Given the description of an element on the screen output the (x, y) to click on. 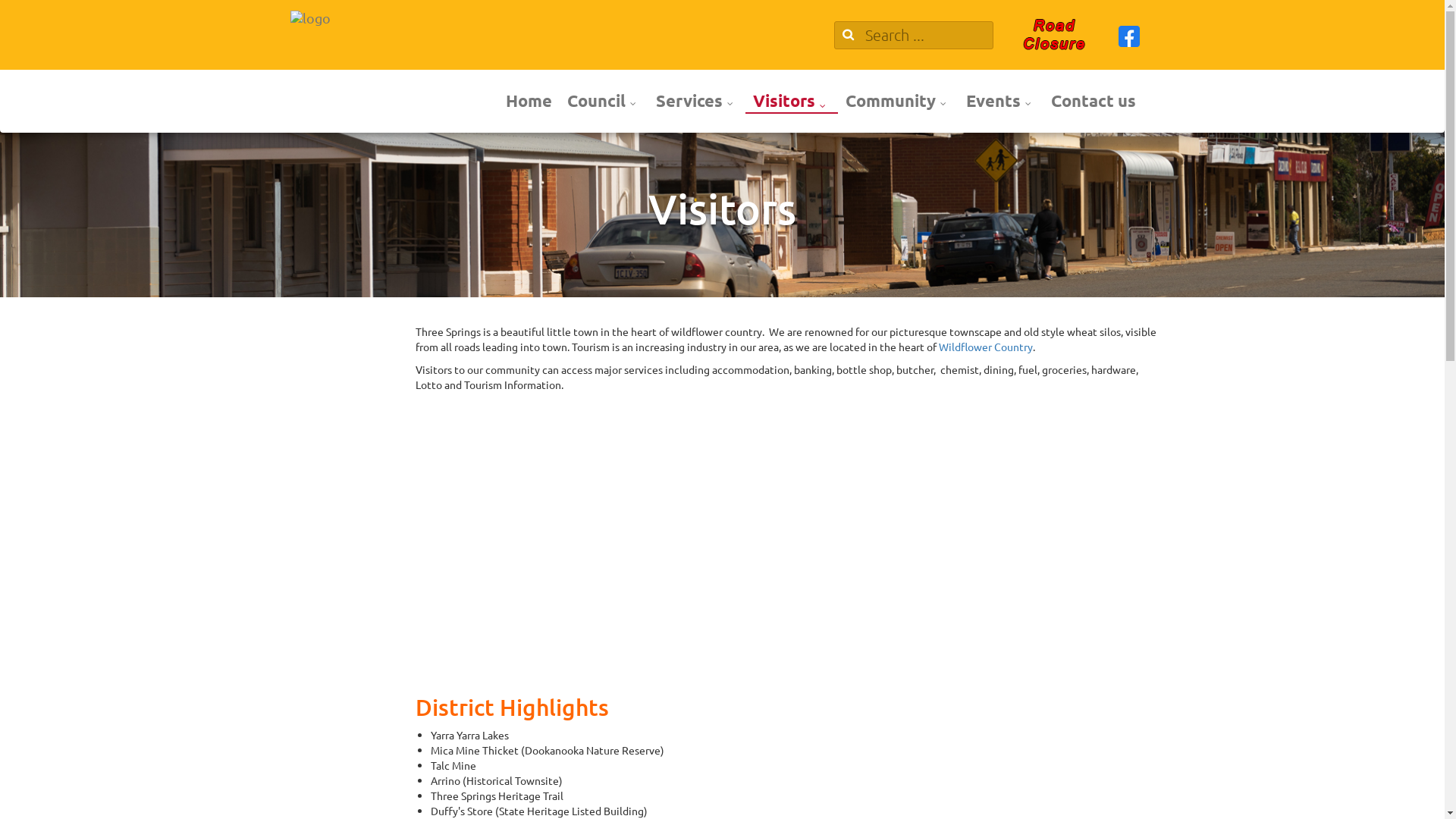
Wildflower Country Element type: text (985, 346)
Contact us Element type: text (1093, 100)
Community Element type: text (897, 100)
Visitors Element type: text (790, 100)
Services Element type: text (695, 100)
Council Element type: text (603, 100)
Home Element type: text (527, 100)
Events Element type: text (1000, 100)
